Given the description of an element on the screen output the (x, y) to click on. 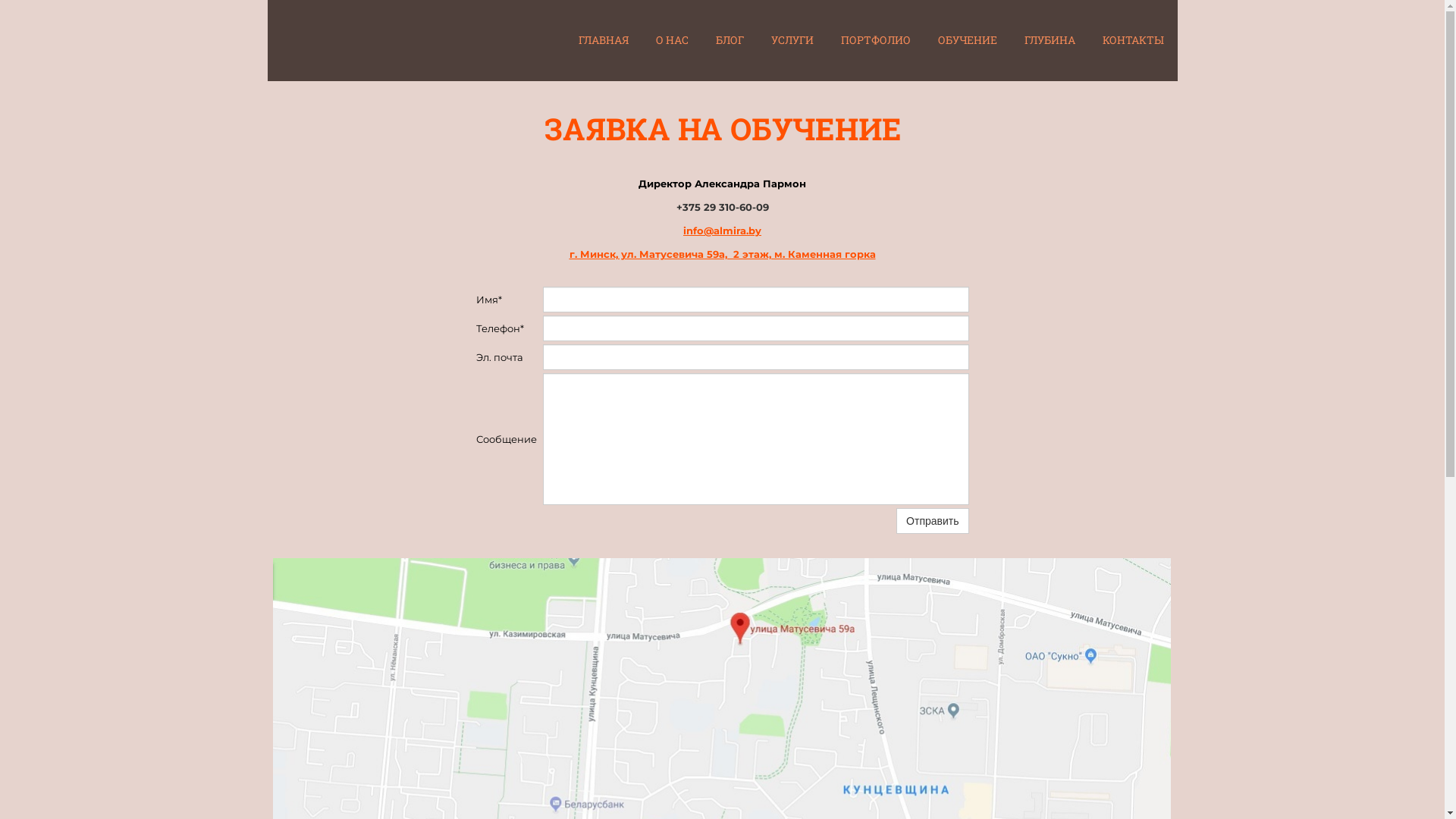
@a Element type: text (711, 230)
info Element type: text (693, 230)
lmira.by Element type: text (740, 230)
